Given the description of an element on the screen output the (x, y) to click on. 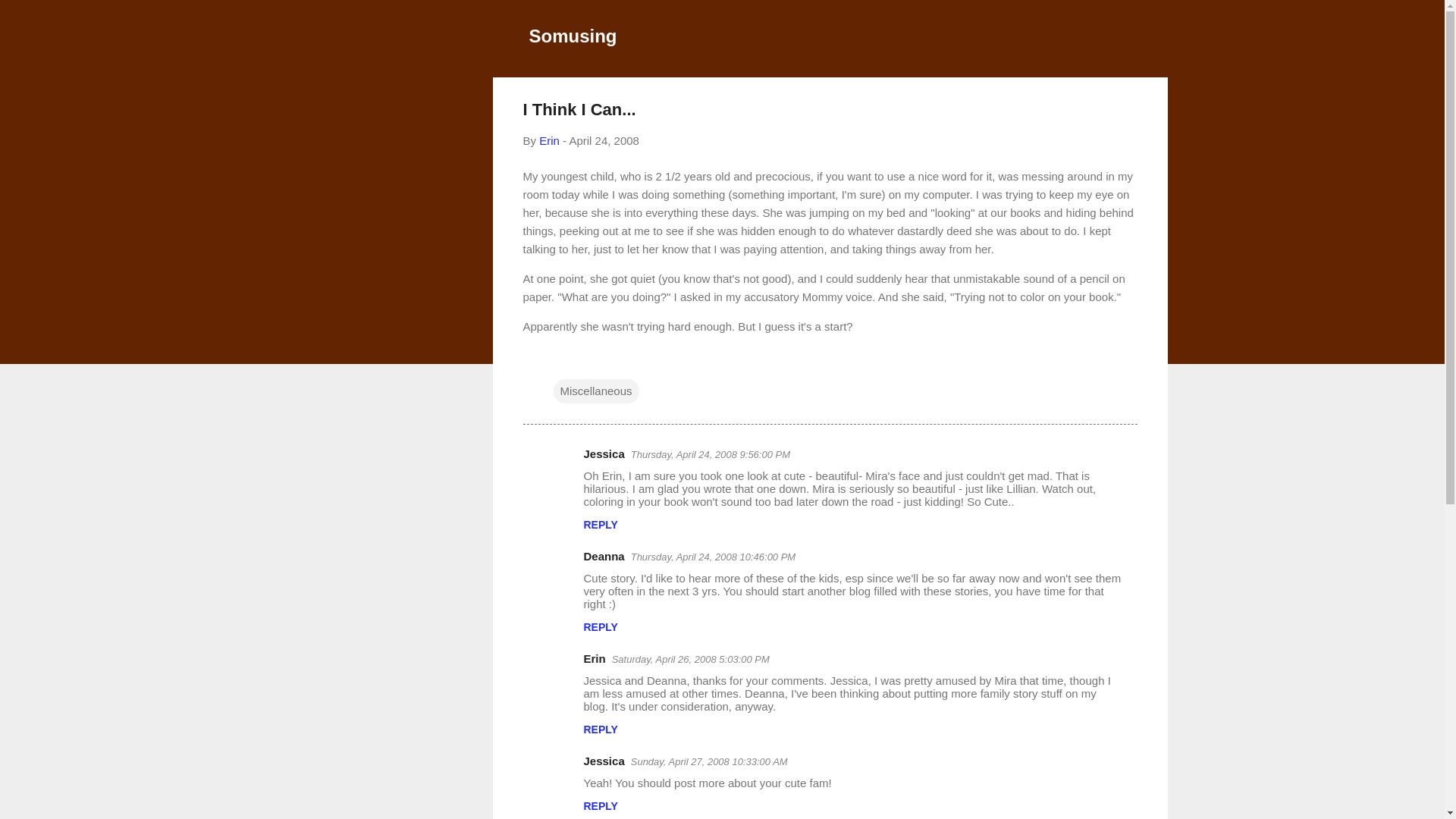
Thursday, April 24, 2008 9:56:00 PM (710, 454)
REPLY (600, 626)
Sunday, April 27, 2008 10:33:00 AM (708, 761)
Somusing (573, 35)
Thursday, April 24, 2008 10:46:00 PM (713, 556)
April 24, 2008 (604, 140)
Search (29, 18)
Saturday, April 26, 2008 5:03:00 PM (690, 659)
REPLY (600, 806)
Erin (548, 140)
REPLY (600, 524)
Miscellaneous (596, 391)
author profile (548, 140)
permanent link (604, 140)
REPLY (600, 729)
